Given the description of an element on the screen output the (x, y) to click on. 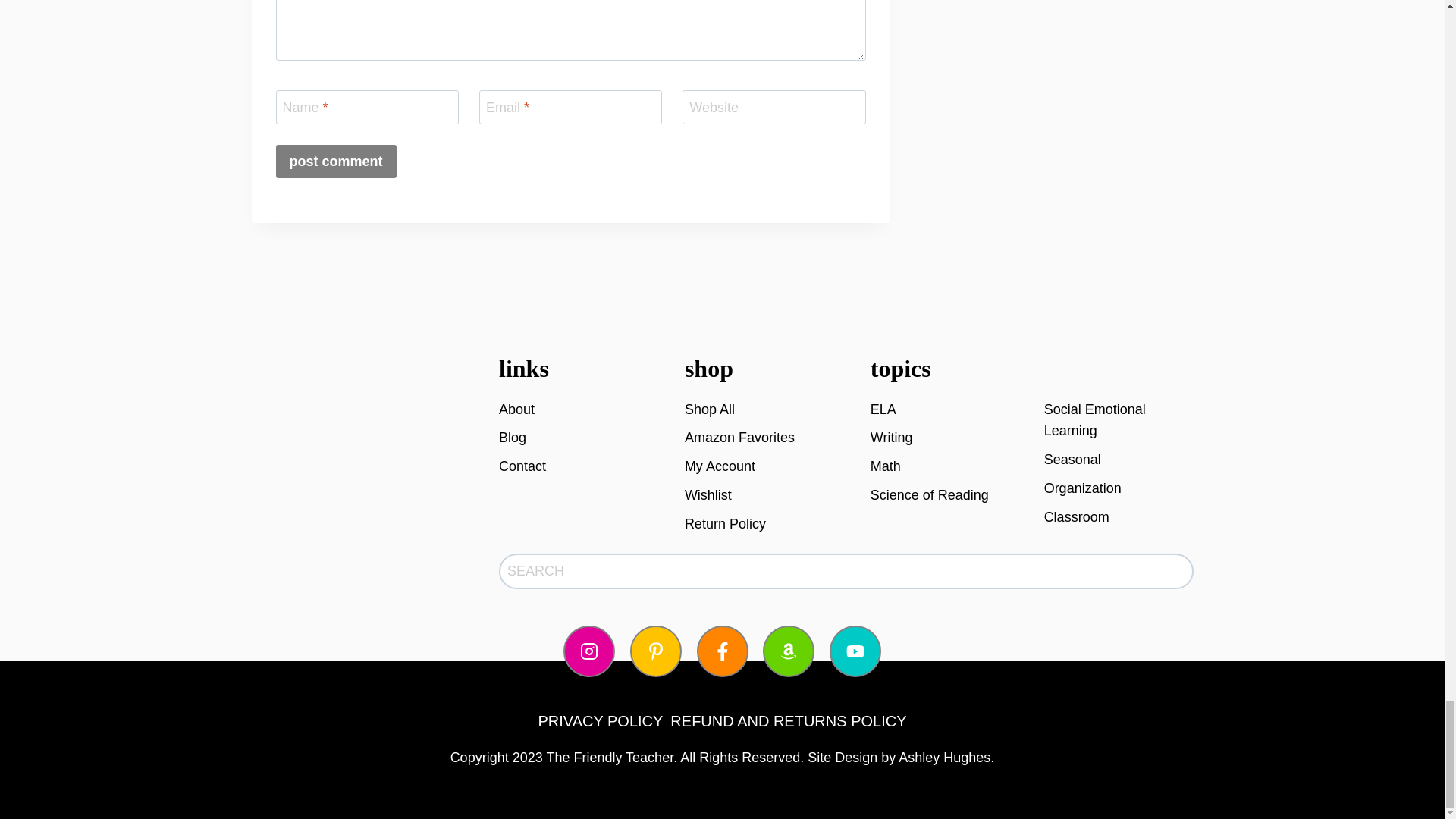
Post Comment (336, 160)
